Given the description of an element on the screen output the (x, y) to click on. 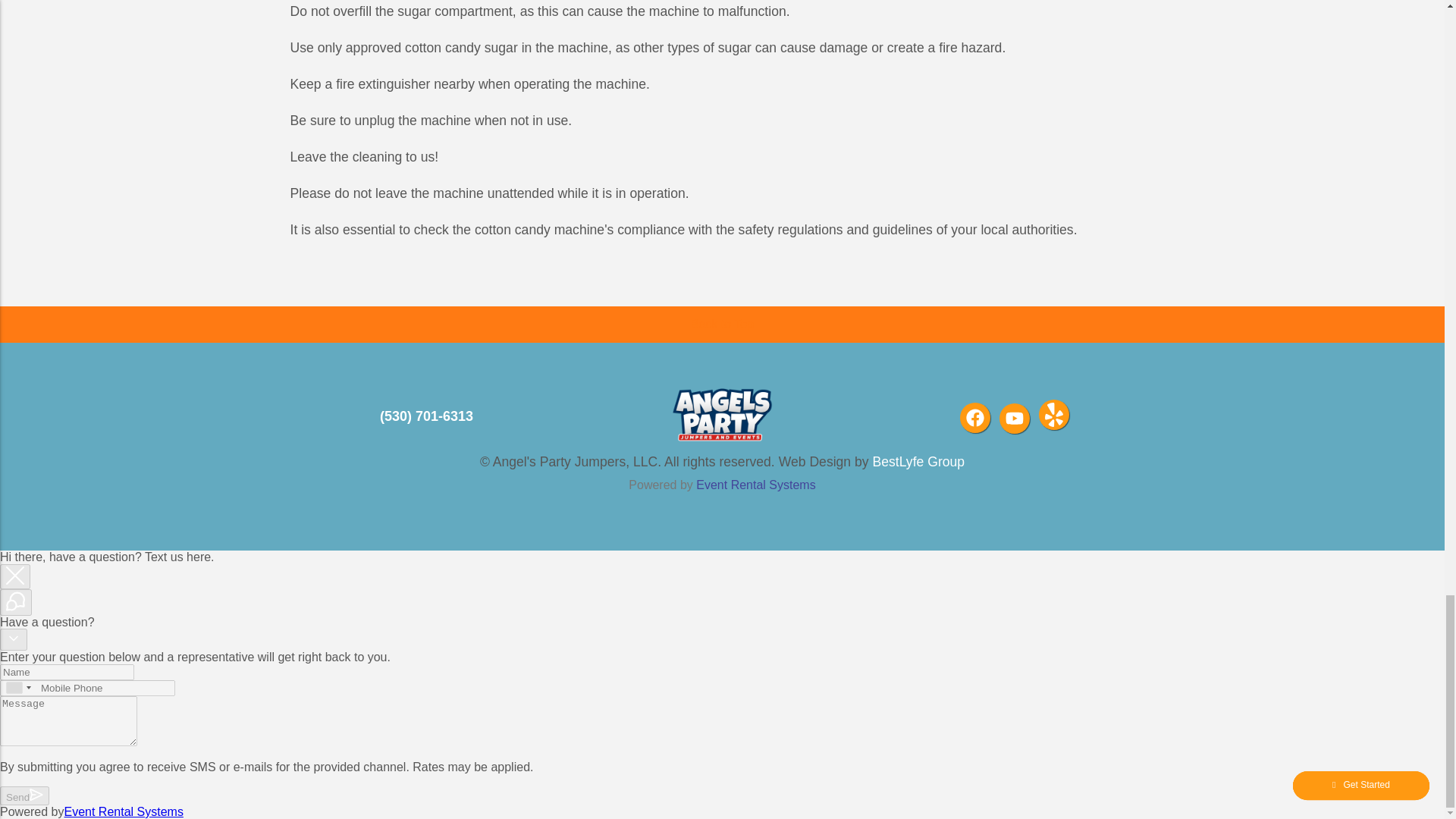
Angels Party Jumpers YouTube (1013, 418)
BestLyfe Group (918, 461)
Angels Party Jumpers Facebook (974, 417)
Angels Party Jumpers Yelp (1053, 414)
Event Rental Systems (755, 484)
